Given the description of an element on the screen output the (x, y) to click on. 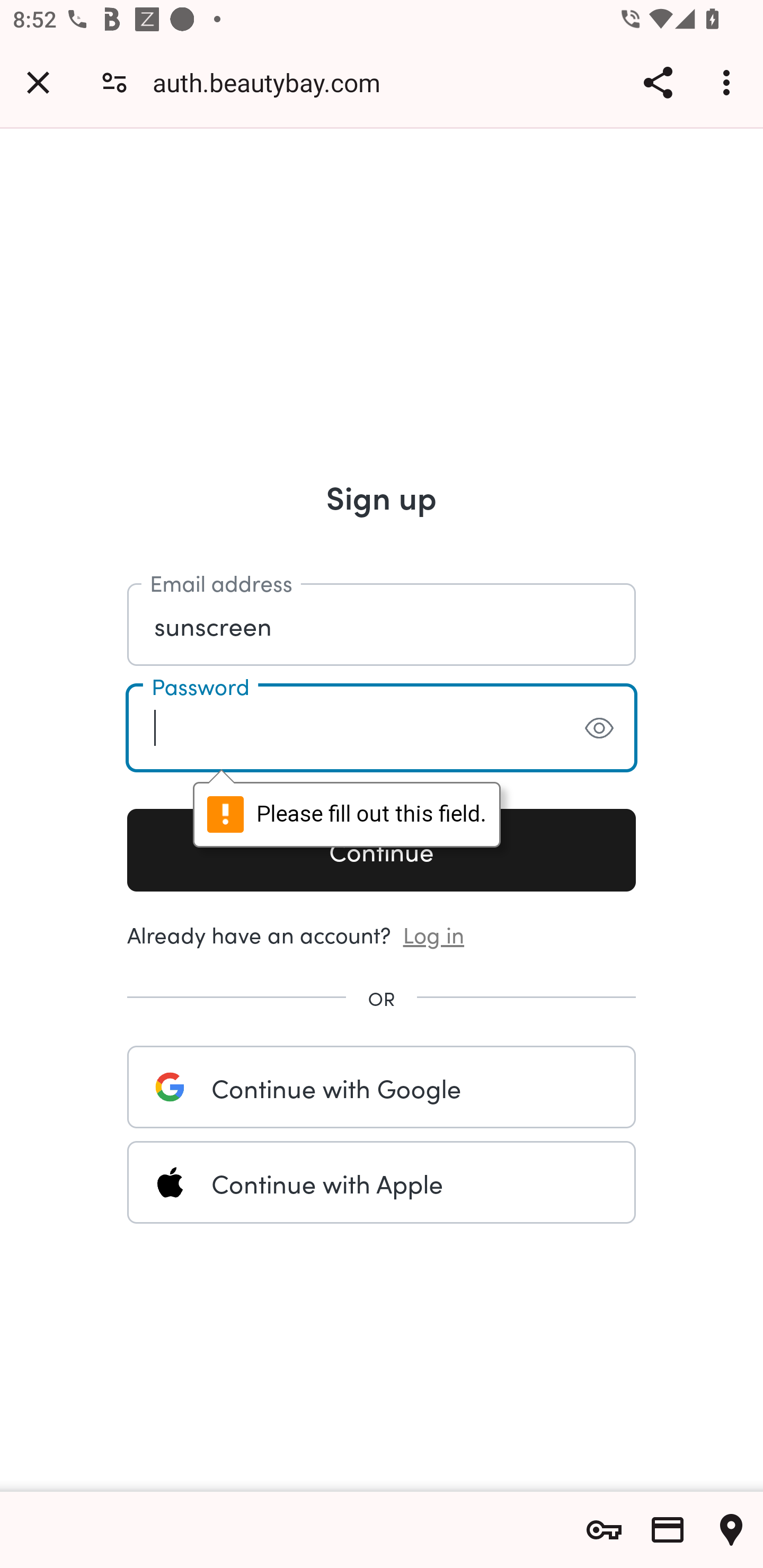
Close tab (38, 82)
Share (657, 82)
Customize and control Google Chrome (729, 82)
Connection is secure (114, 81)
auth.beautybay.com (272, 81)
sunscreen (381, 624)
Show password (599, 727)
Log in (433, 933)
Continue with Google (381, 1086)
Continue with Apple (381, 1182)
Show saved passwords and password options (603, 1530)
Show saved payment methods (667, 1530)
Show saved addresses (731, 1530)
